Given the description of an element on the screen output the (x, y) to click on. 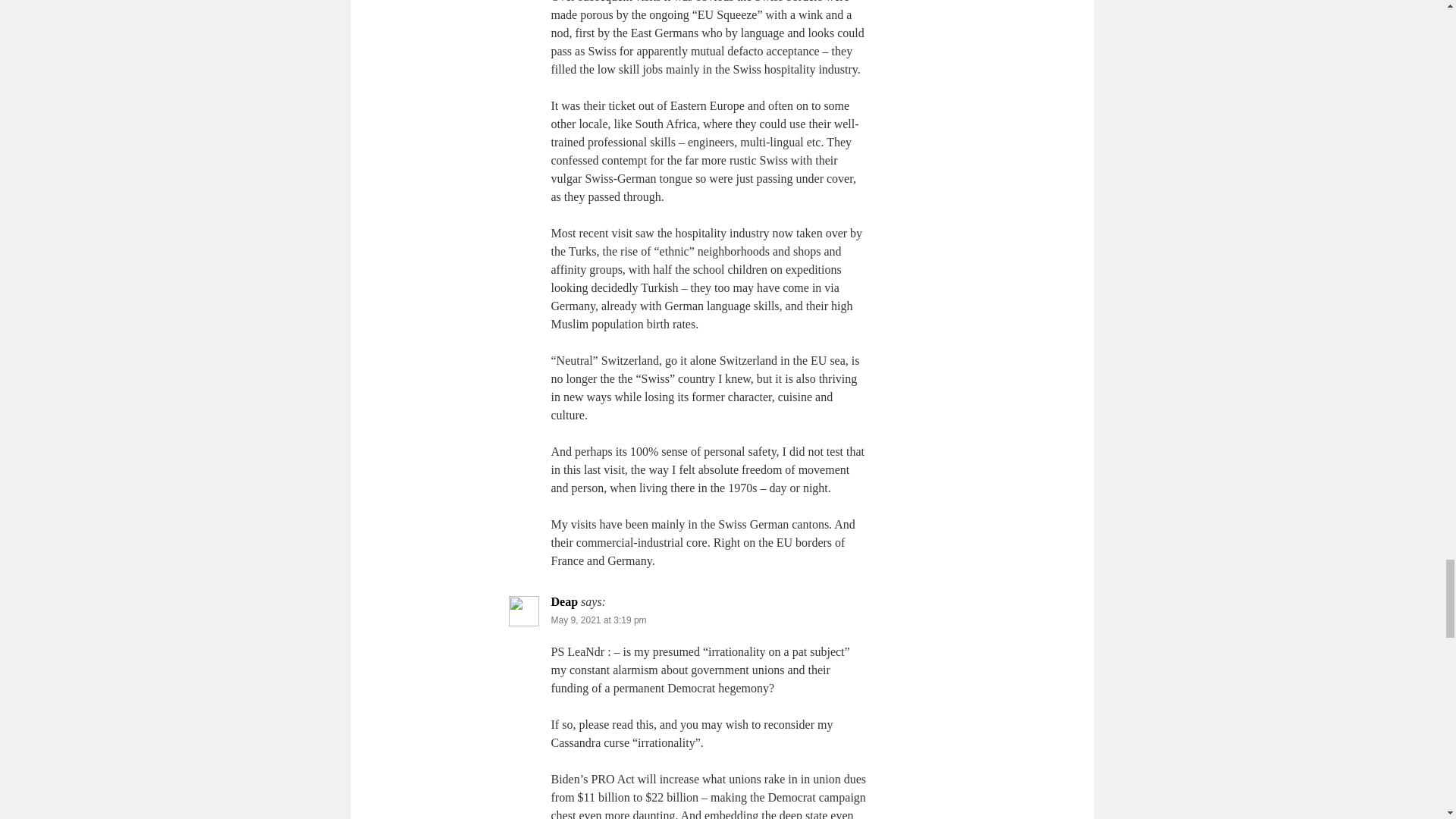
May 9, 2021 at 3:19 pm (598, 620)
